Given the description of an element on the screen output the (x, y) to click on. 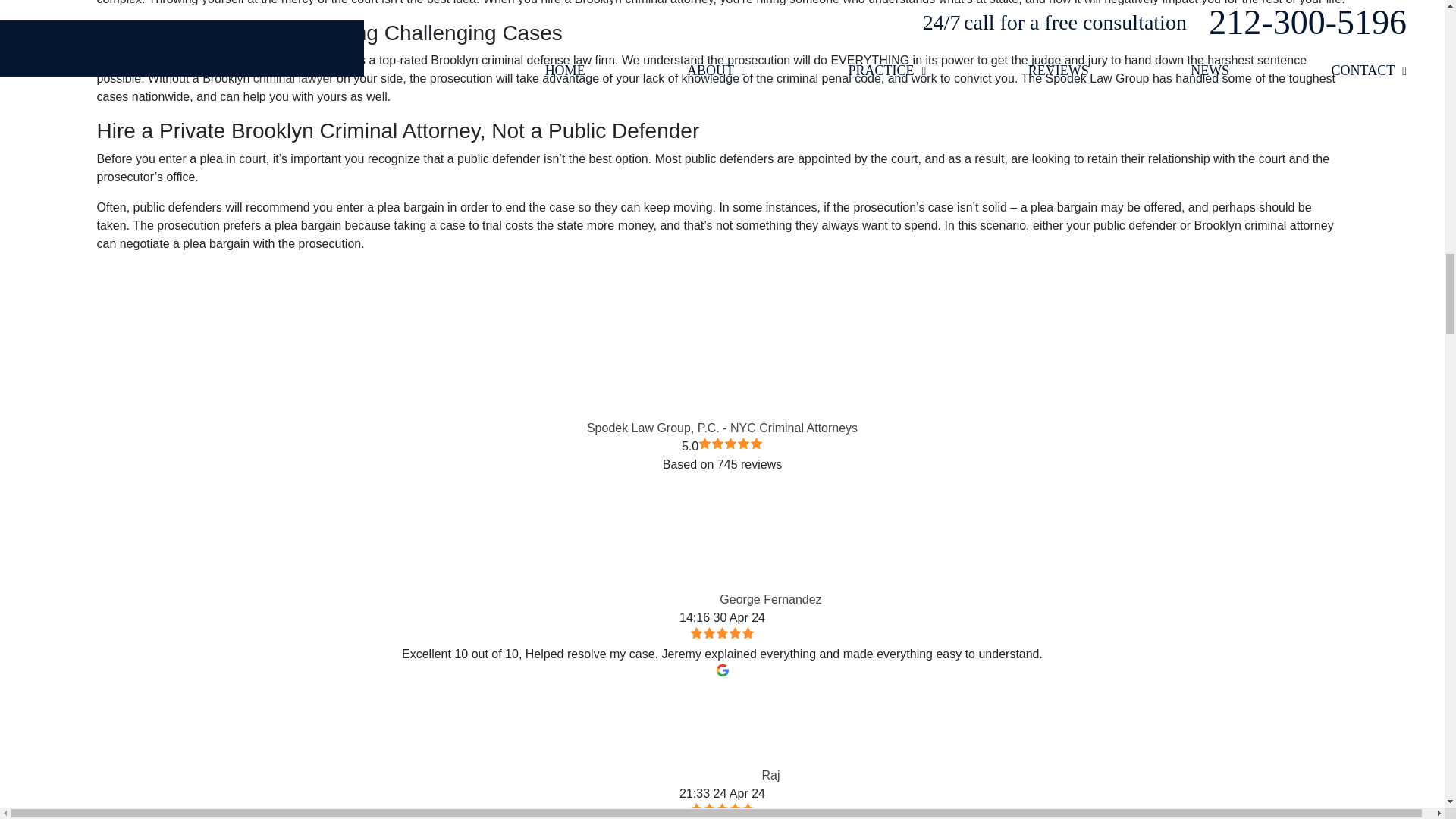
Spodek Law Group, P.C. - NYC Criminal Attorneys (721, 339)
Raj (712, 730)
criminal lawyer (293, 78)
powered by Google (721, 487)
George Fernandez (671, 554)
